Given the description of an element on the screen output the (x, y) to click on. 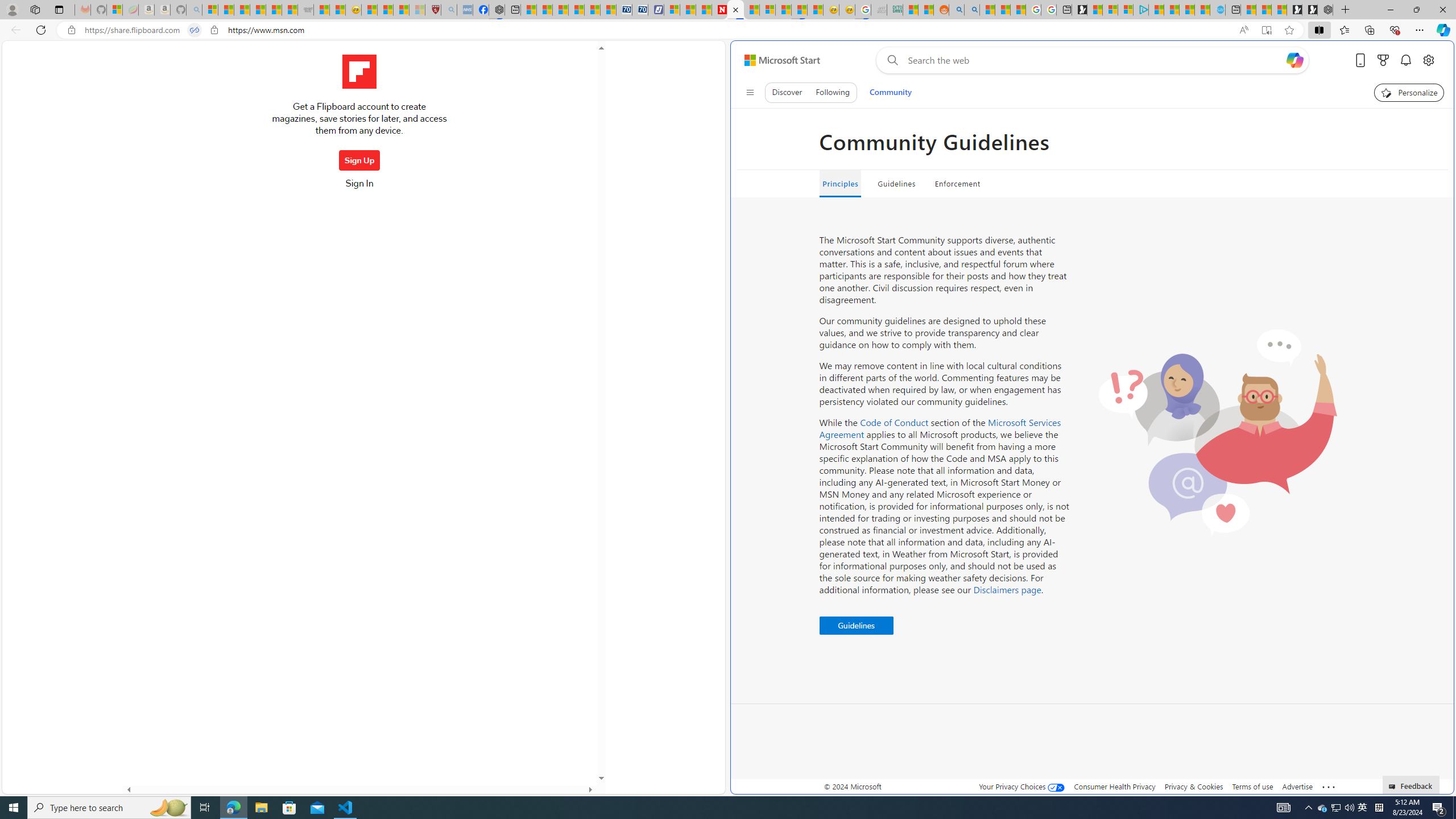
Cheap Car Rentals - Save70.com (624, 9)
Class: logo (359, 71)
New Report Confirms 2023 Was Record Hot | Watch (273, 9)
Privacy & Cookies (1193, 786)
Consumer Health Privacy (1115, 785)
Sign In (359, 186)
Privacy & Cookies (1193, 785)
